Given the description of an element on the screen output the (x, y) to click on. 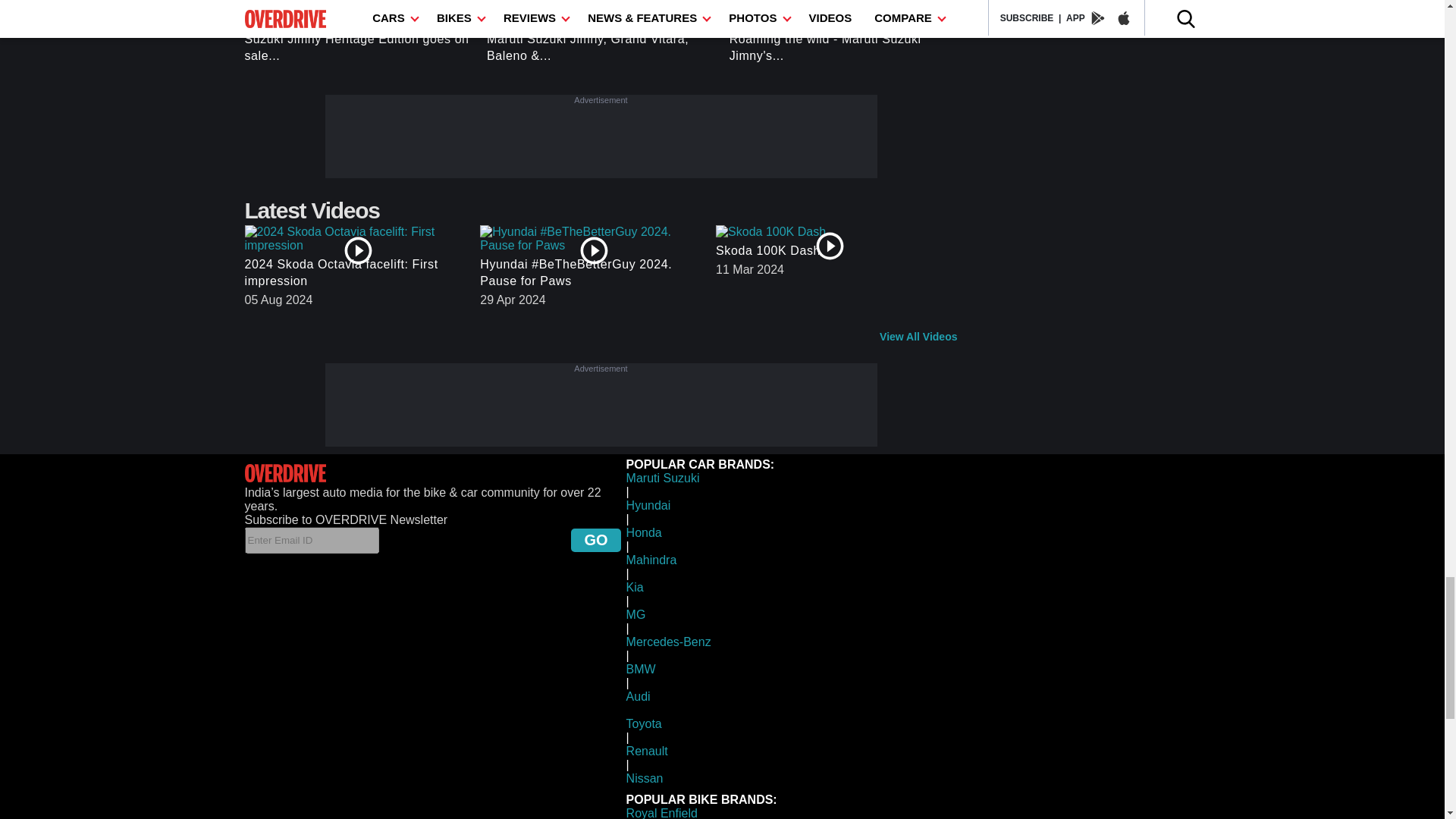
go (595, 539)
go (595, 539)
